Given the description of an element on the screen output the (x, y) to click on. 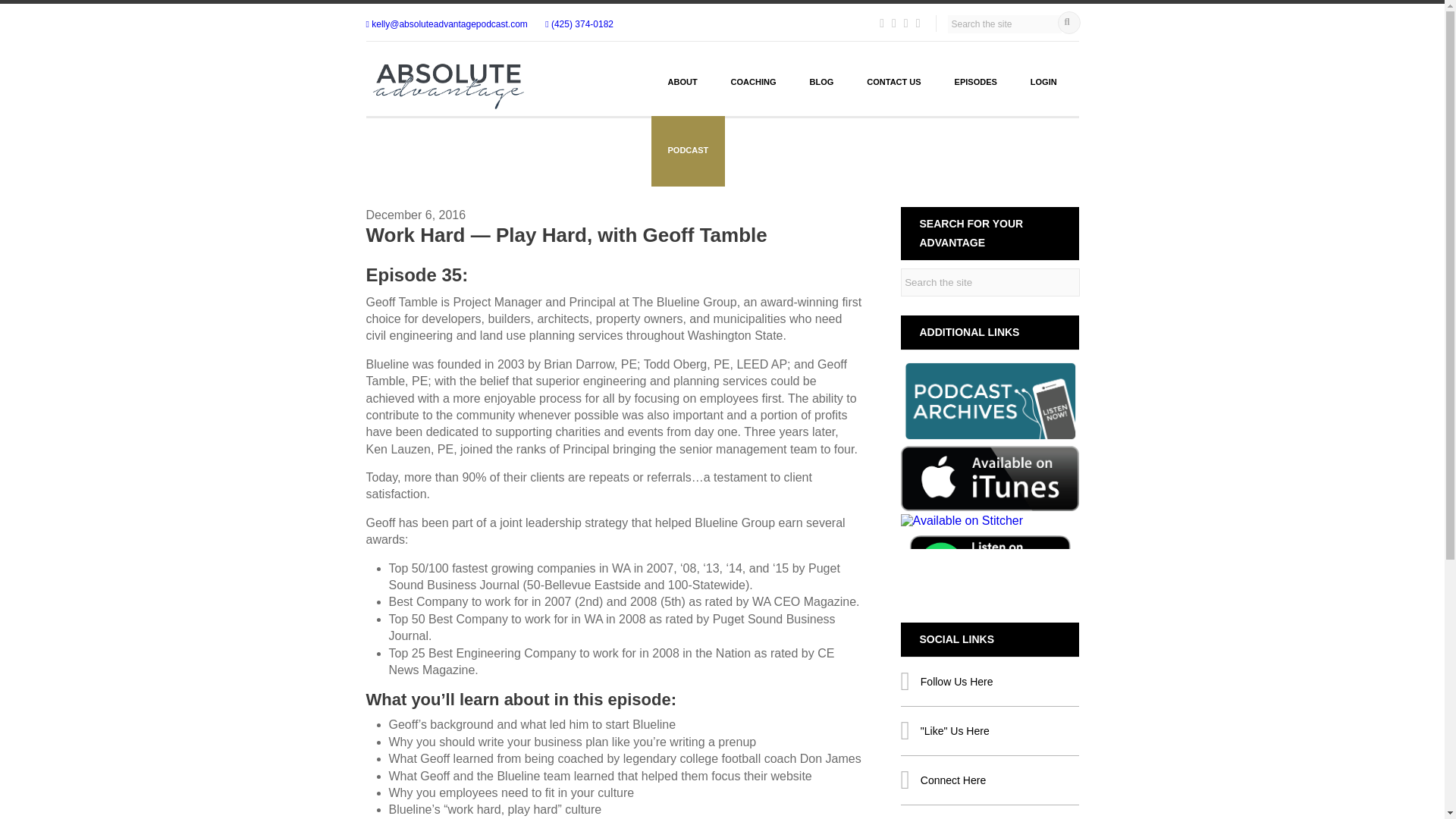
Search the site (1004, 24)
"Like" Us Here (989, 730)
Instagram (989, 817)
Follow Us Here (989, 817)
COACHING (753, 82)
Follow Us Here (989, 681)
Search the site (990, 282)
ABOUT (681, 82)
Facebook (989, 730)
